Given the description of an element on the screen output the (x, y) to click on. 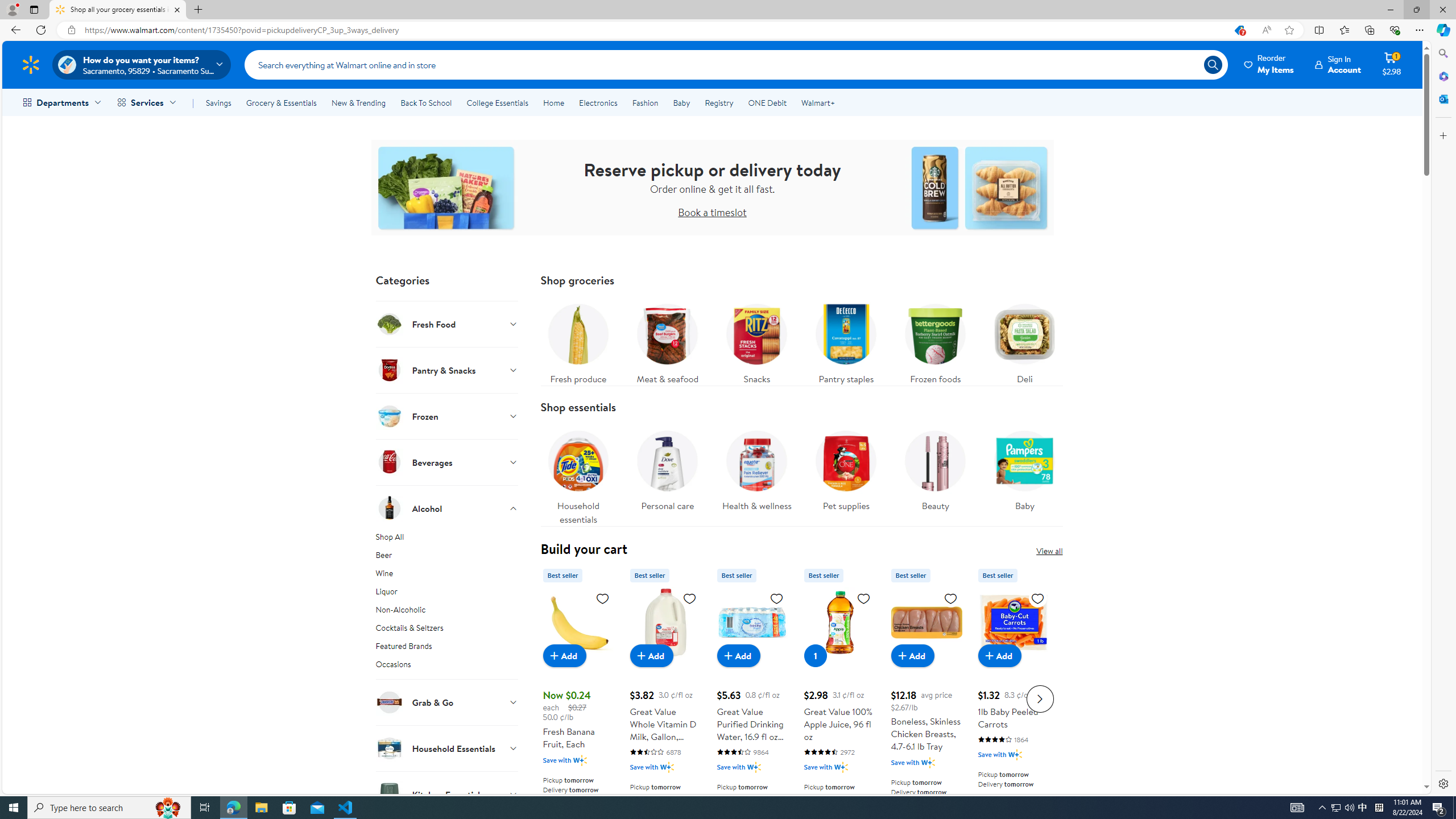
Walmart Plus (1015, 754)
Frozen (446, 415)
Next slide for Product Carousel list (1040, 698)
Savings (217, 102)
Beverages (446, 461)
Non-Alcoholic (446, 611)
Snacks (756, 340)
Walmart+ (817, 102)
Reorder My Items (1269, 64)
Customize (1442, 135)
Beauty (935, 467)
Wine (446, 575)
Boneless, Skinless Chicken Breasts, 4.7-6.1 lb Tray (926, 621)
